Given the description of an element on the screen output the (x, y) to click on. 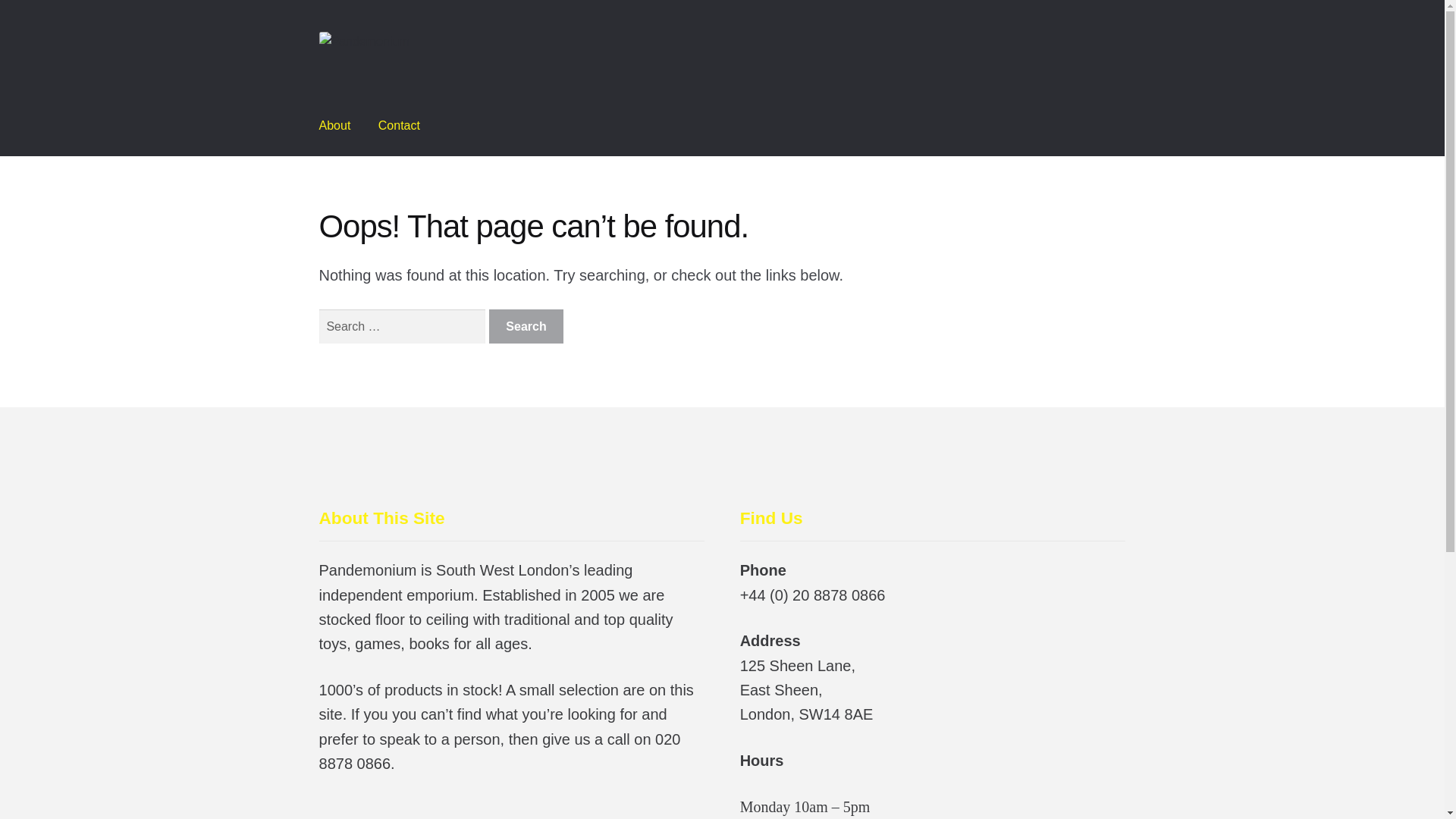
Contact (399, 125)
About (334, 125)
Search (526, 326)
Search (526, 326)
Search (526, 326)
